Given the description of an element on the screen output the (x, y) to click on. 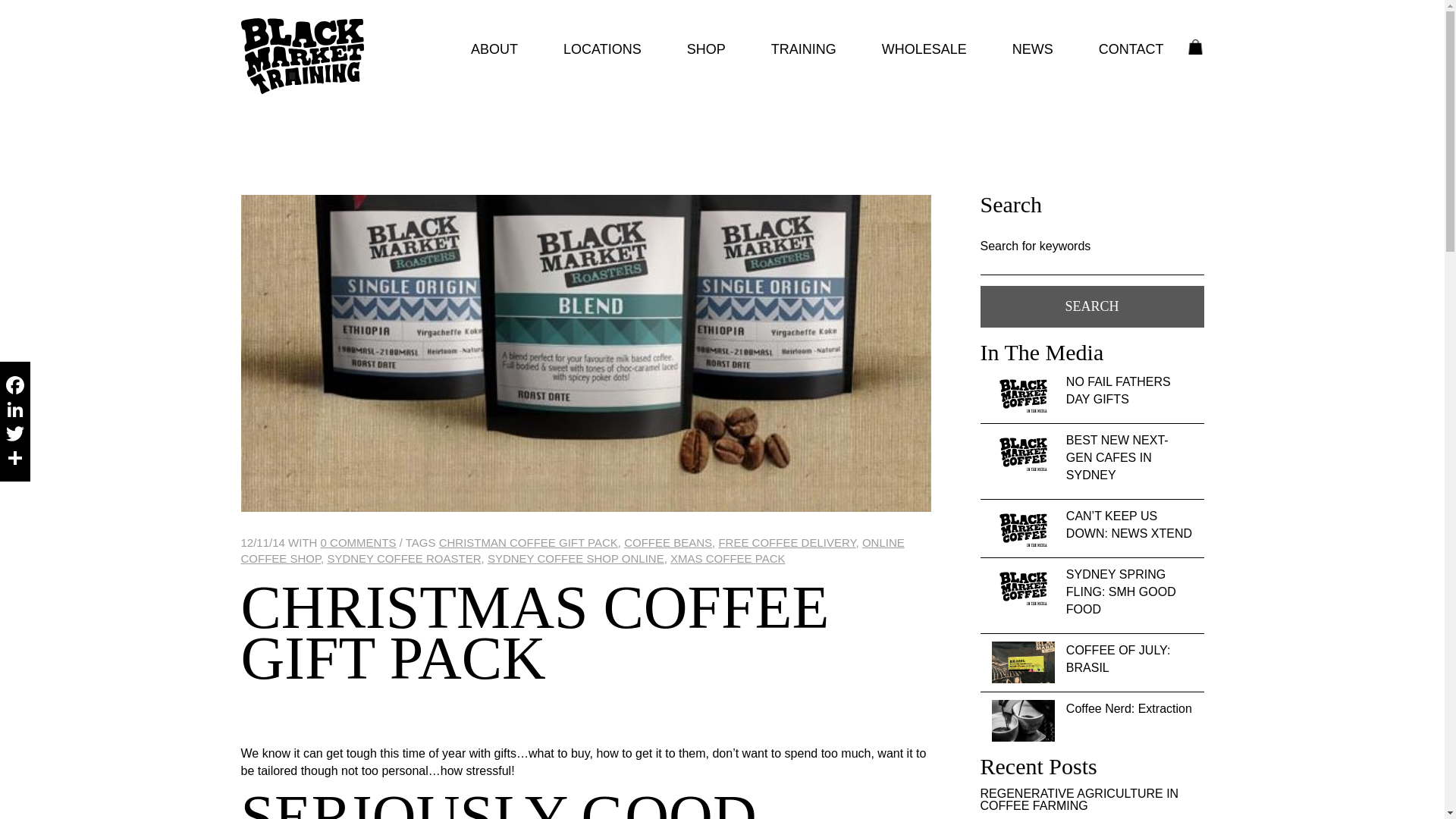
TRAINING (803, 48)
Facebook (15, 385)
Search for: (1091, 265)
LinkedIn (15, 409)
SHOP (706, 48)
Twitter (15, 433)
BEST NEW NEXT-GEN CAFES IN SYDNEY (1128, 457)
Search (1091, 305)
Share (15, 457)
ONLINE COFFEE SHOP (572, 550)
